Given the description of an element on the screen output the (x, y) to click on. 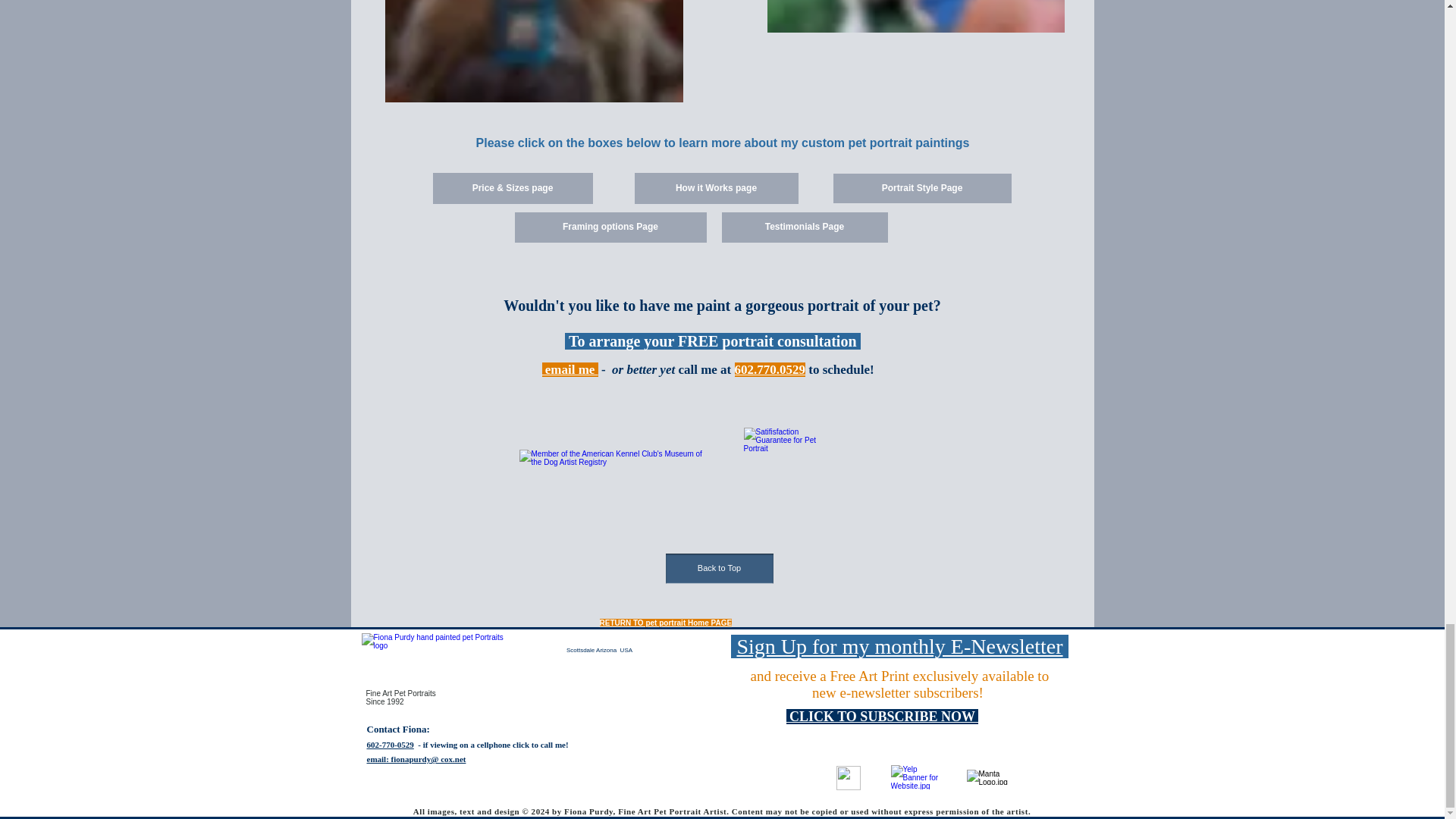
Framing options Page (609, 227)
602.770.0529 (770, 369)
Portrait Style Page (921, 188)
How it Works page (715, 187)
 email me  (569, 369)
Testimonials Page (805, 227)
google g.jpg (847, 777)
 To arrange your FREE portrait consultation  (712, 341)
